Given the description of an element on the screen output the (x, y) to click on. 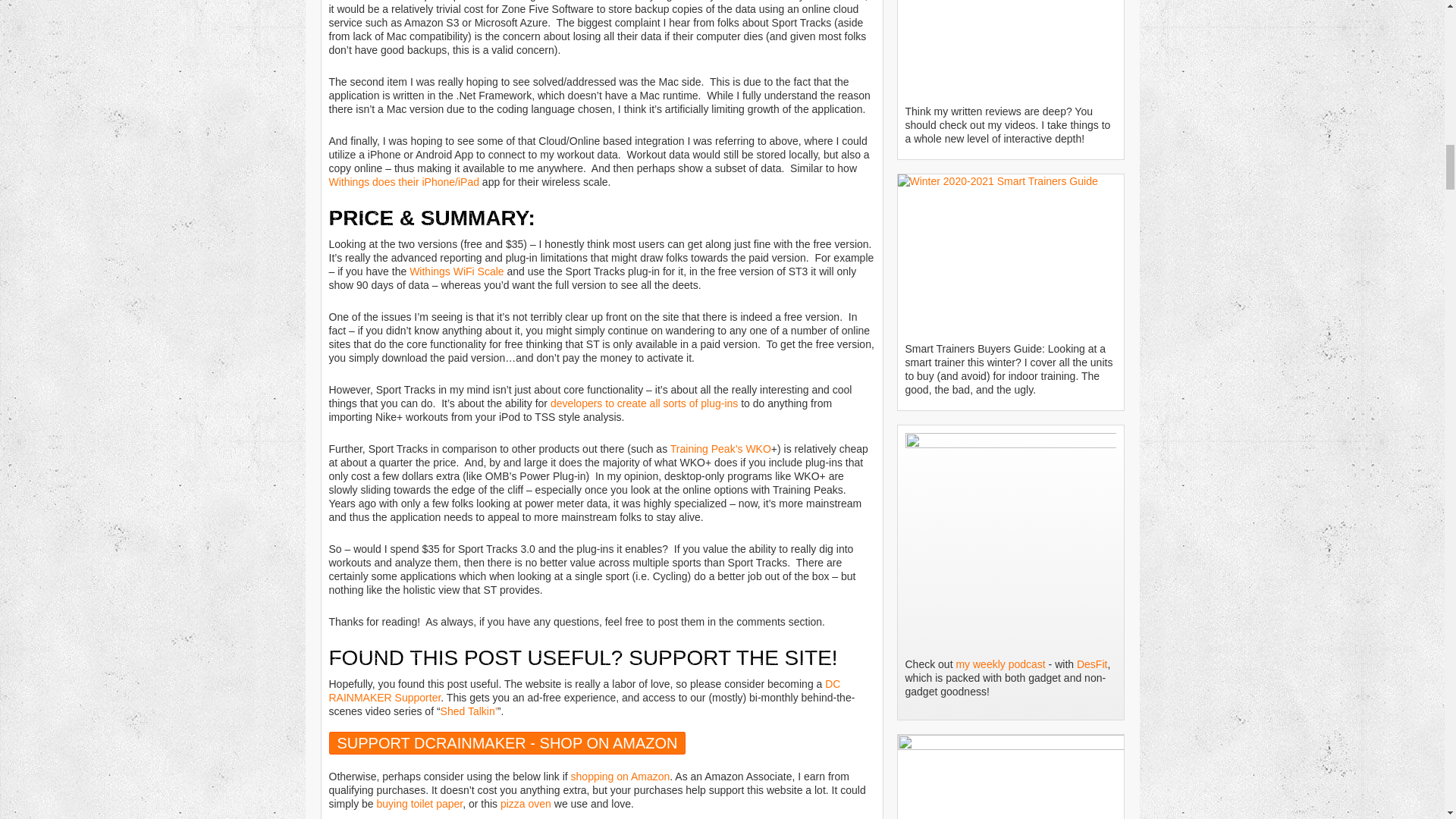
DC Rainmaker YouTube Channel (1011, 48)
